Given the description of an element on the screen output the (x, y) to click on. 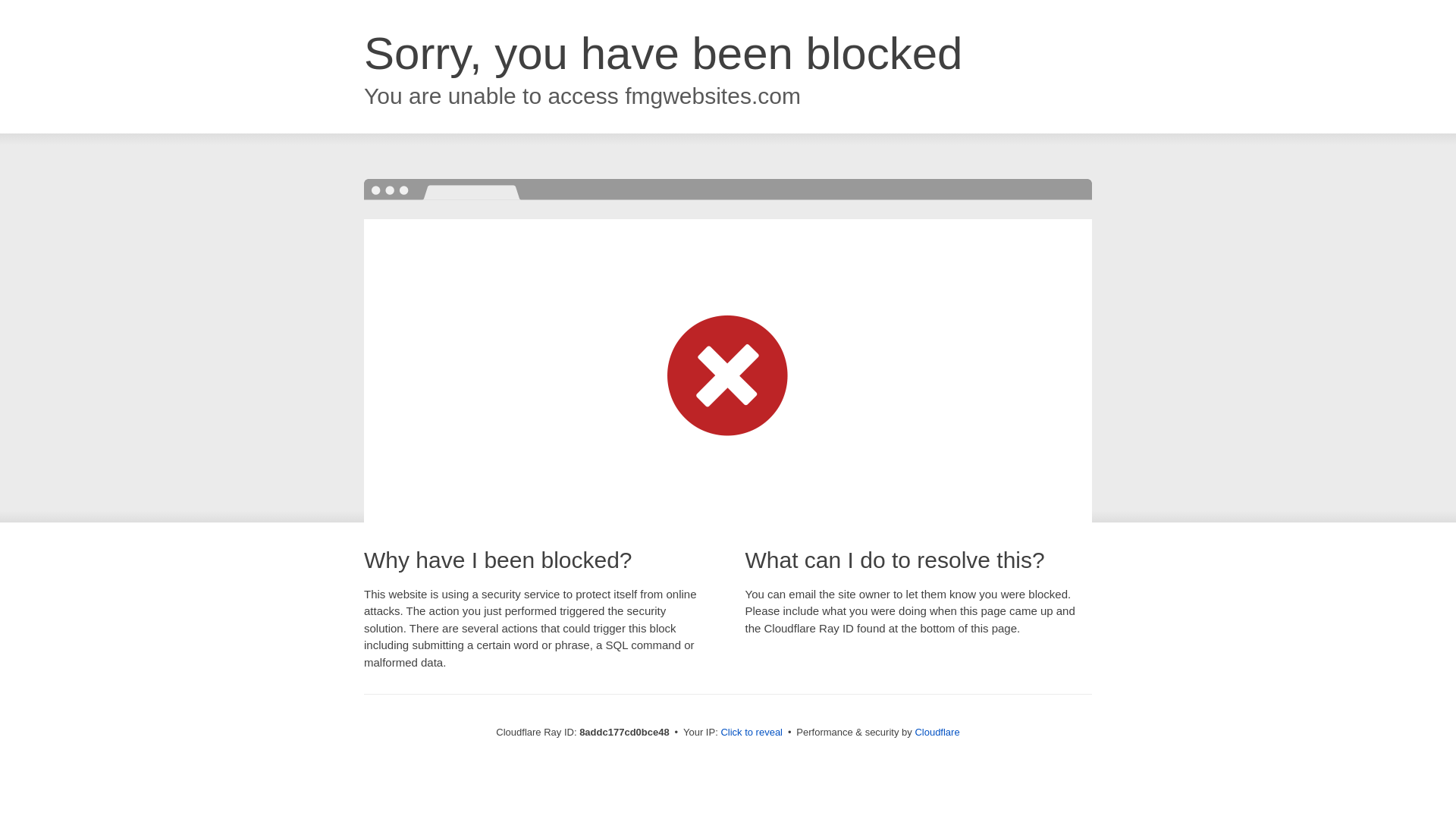
Cloudflare (936, 731)
Click to reveal (751, 732)
